Given the description of an element on the screen output the (x, y) to click on. 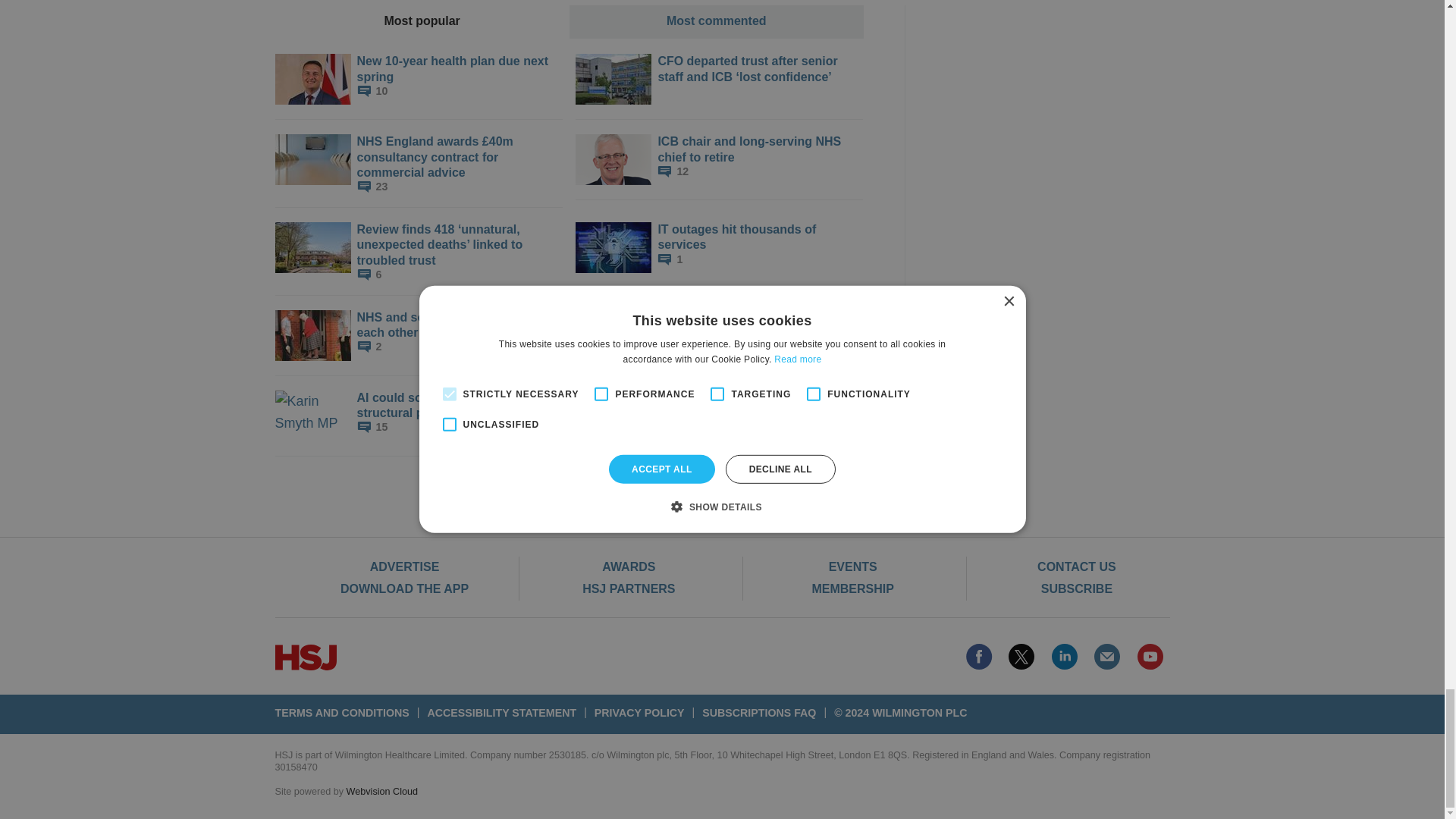
Connect with us on Facebook (978, 656)
Email us (1107, 656)
Connect with us on Linked in (1064, 656)
Connect with us on Twitter (1021, 656)
Connect with us on Youtube (1149, 656)
